Given the description of an element on the screen output the (x, y) to click on. 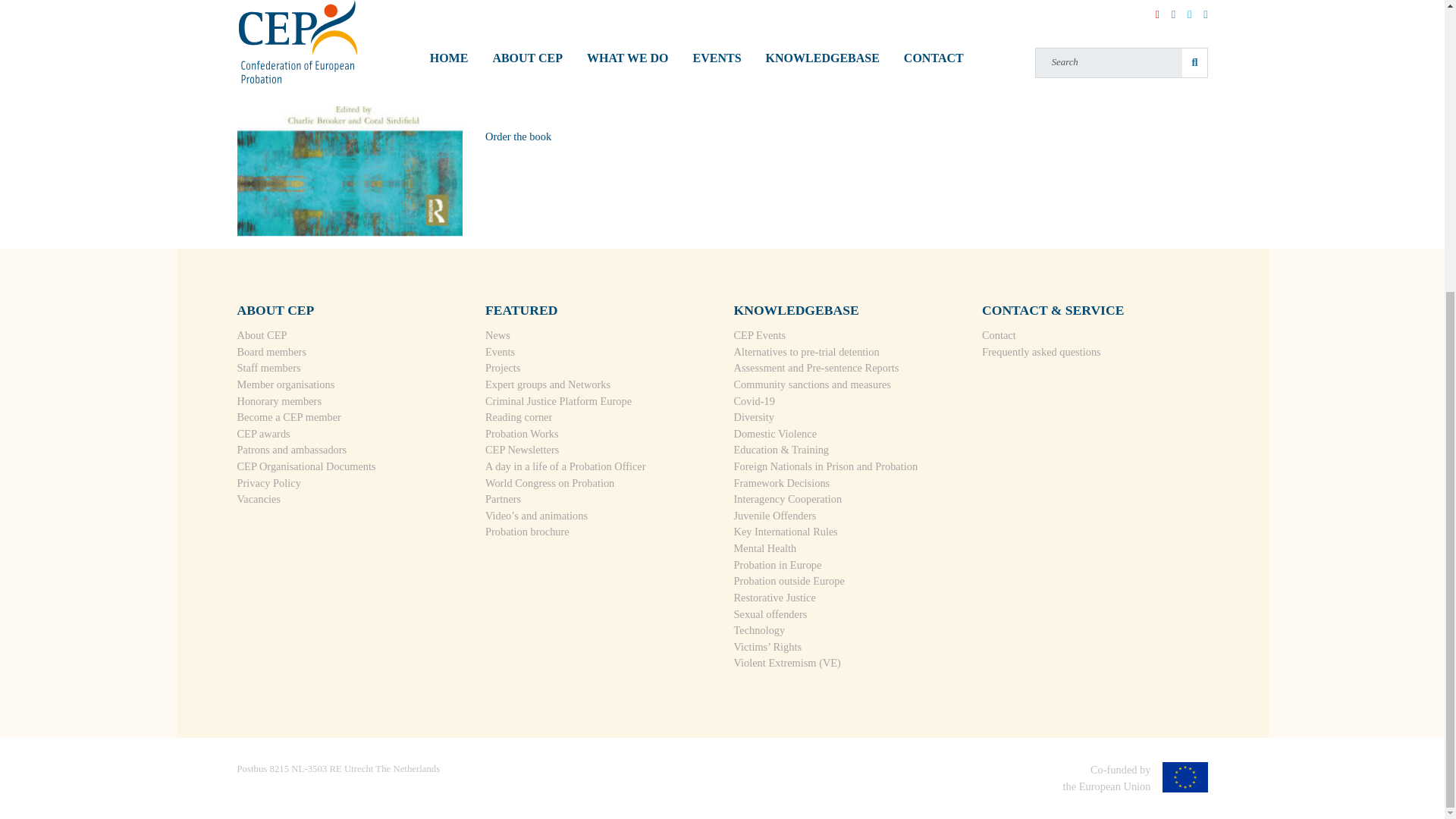
Staff members (267, 367)
Become a CEP member (287, 417)
CEP Organisational Documents (305, 466)
Probation Works (521, 433)
Board members (270, 351)
Criminal Justice Platform Europe (557, 400)
Privacy Policy (267, 482)
News (497, 335)
Member organisations (284, 384)
CEP Newsletters (521, 449)
